Given the description of an element on the screen output the (x, y) to click on. 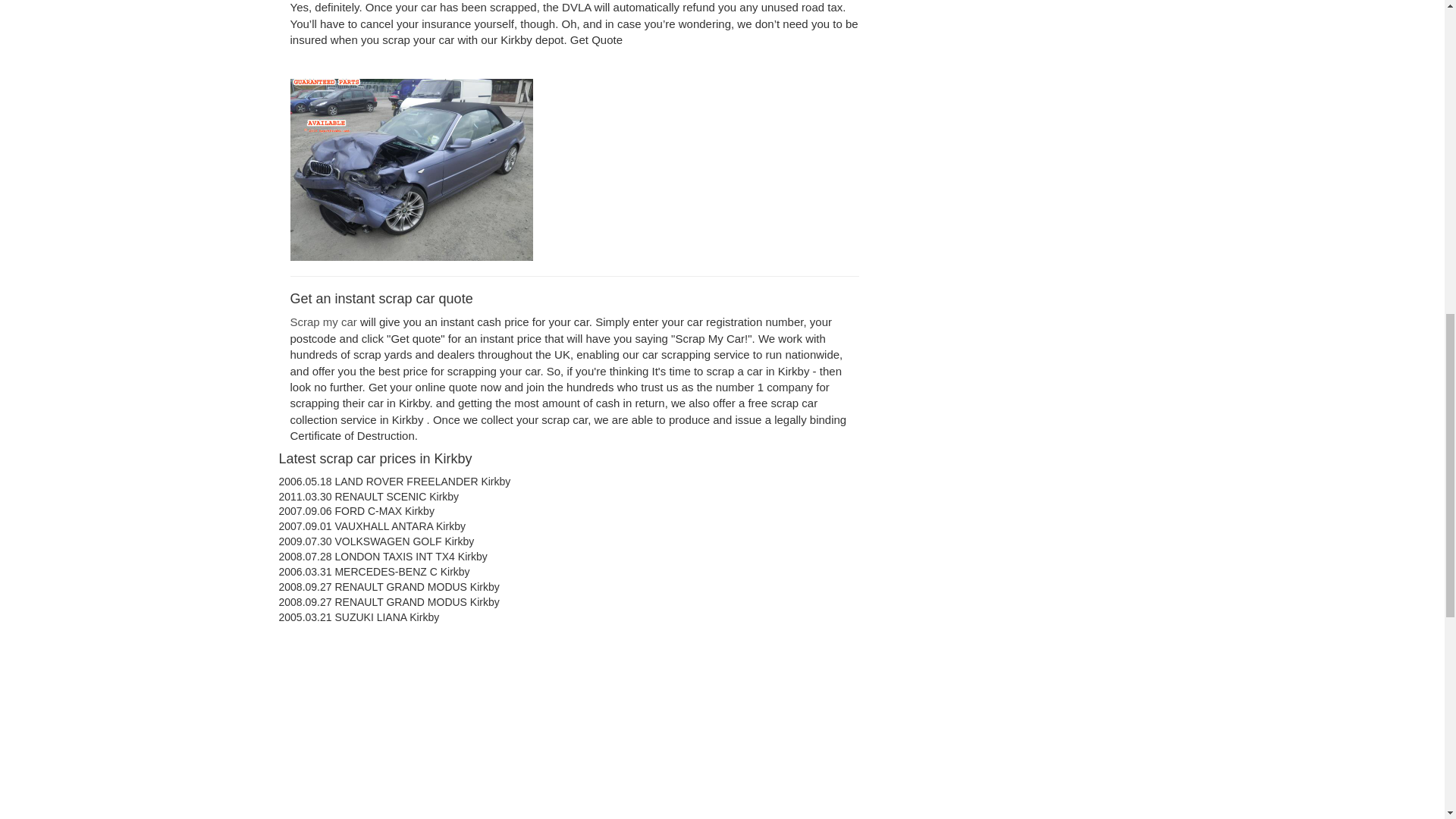
Scrap my car (322, 321)
